Given the description of an element on the screen output the (x, y) to click on. 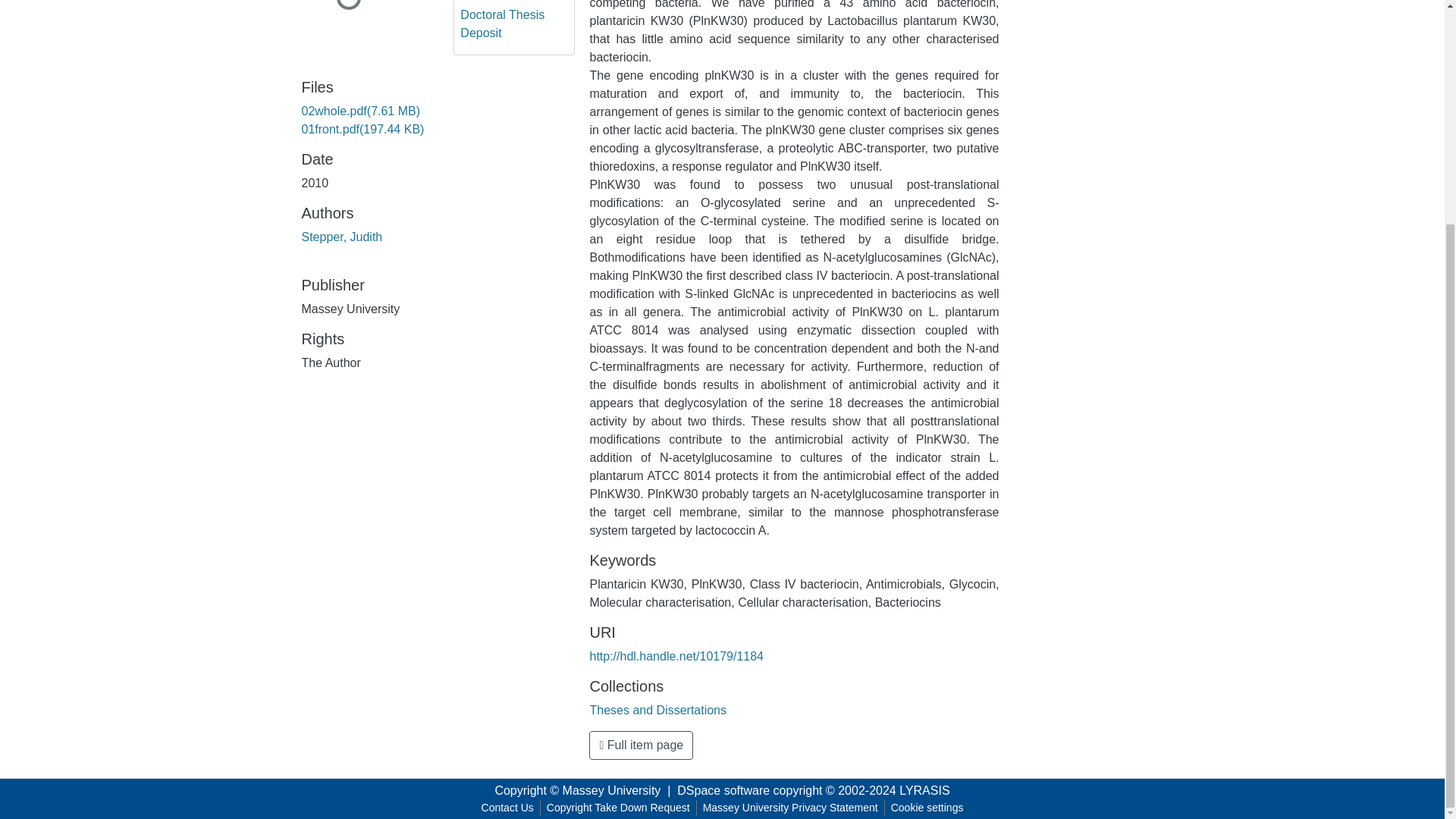
Stepper, Judith (341, 236)
Theses and Dissertations (657, 709)
Full item page (641, 745)
Contact Us (508, 807)
DSpace software (723, 789)
Doctoral Thesis Deposit (513, 24)
LYRASIS (924, 789)
